Given the description of an element on the screen output the (x, y) to click on. 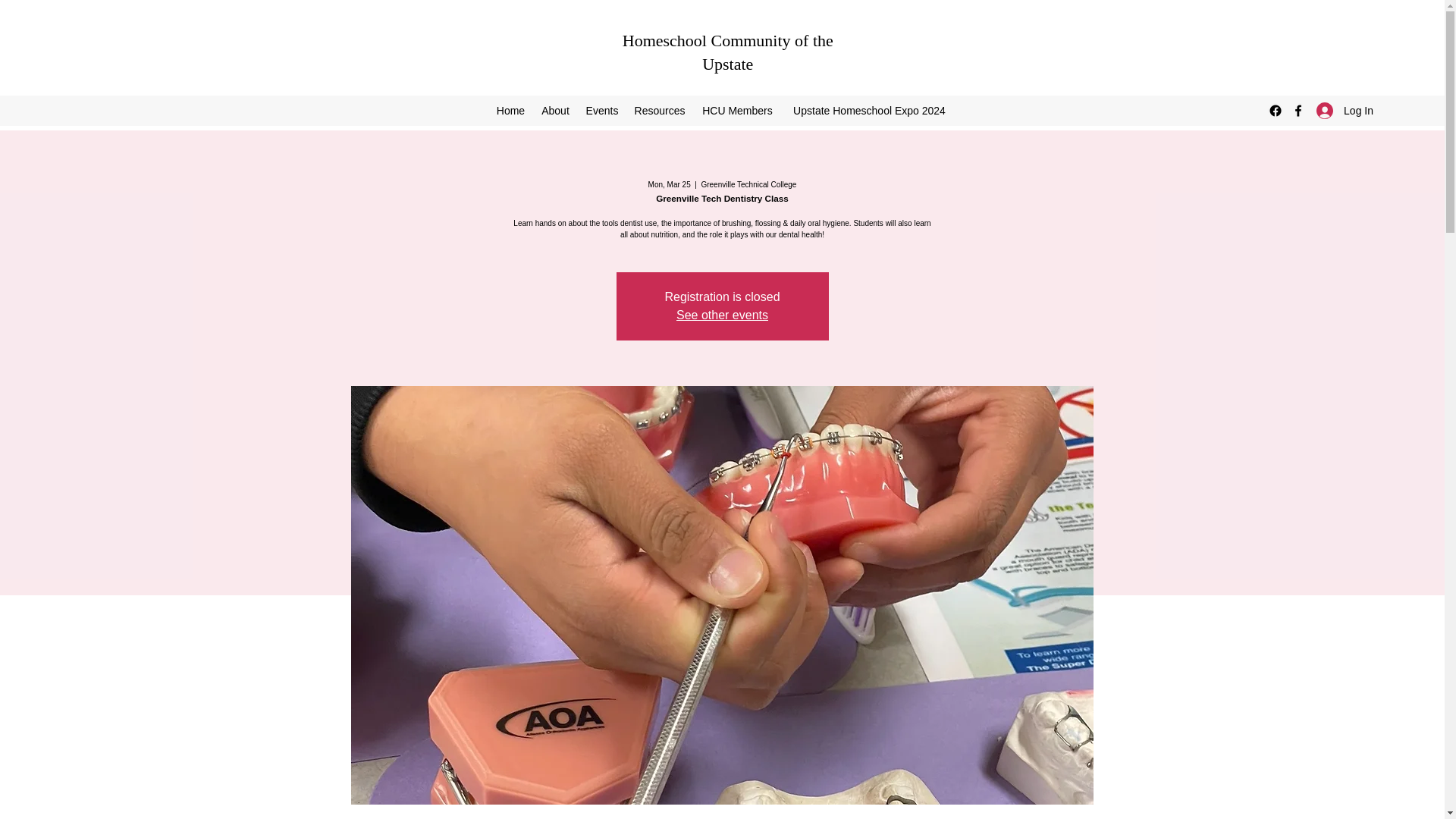
Upstate Homeschool Expo 2024 (868, 110)
Events (602, 110)
About (555, 110)
Resources (659, 110)
HCU Members (737, 110)
Log In (1345, 111)
See other events (722, 314)
Homeschool Community of the Upstate (727, 52)
Home (509, 110)
